Given the description of an element on the screen output the (x, y) to click on. 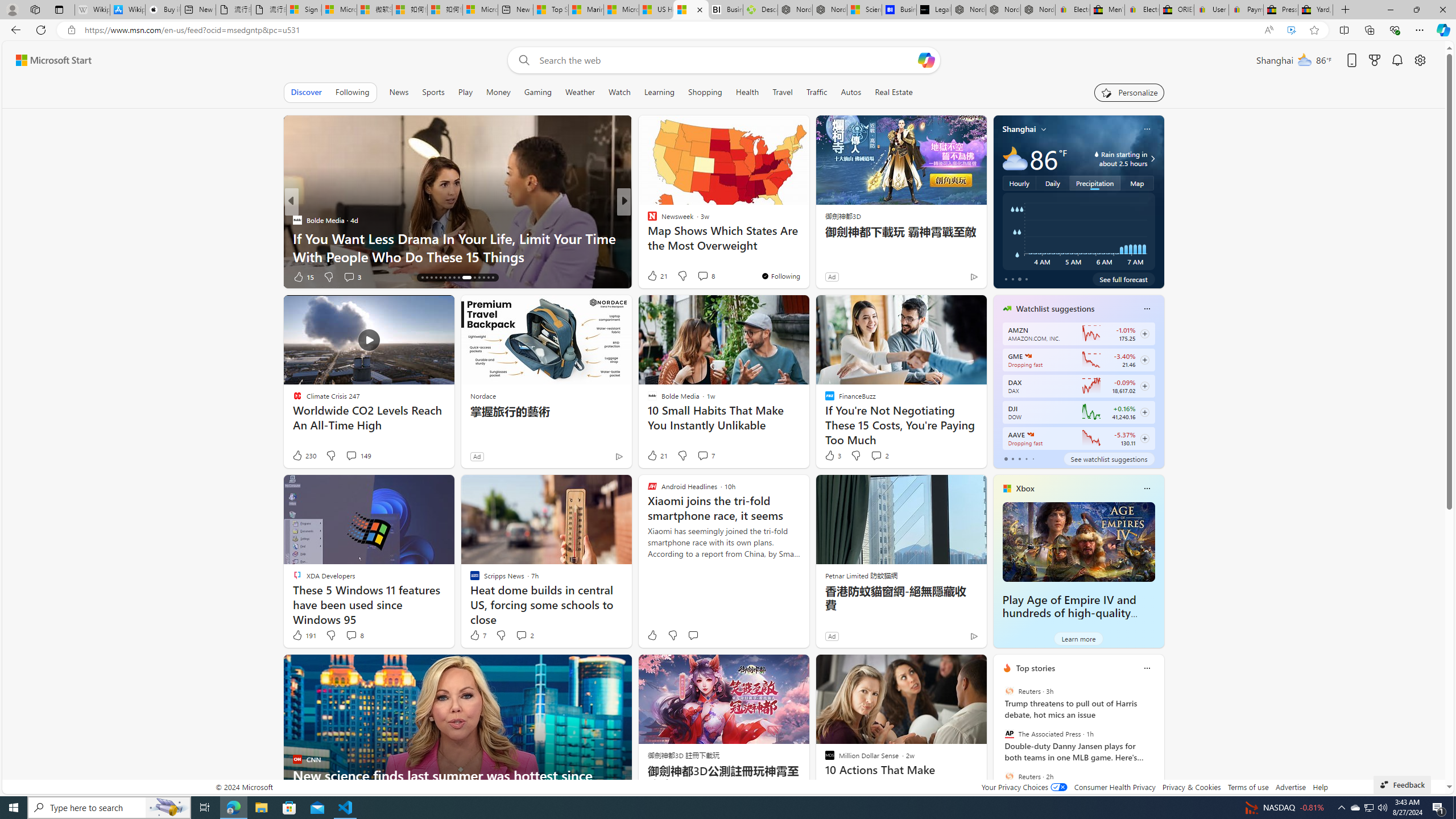
Your Privacy Choices (1024, 786)
Severe Storms To Strike Plains To Great Lakes Early Week (807, 247)
AutomationID: tab-19 (435, 277)
GAMESTOP CORP. (1028, 355)
See full forecast (1123, 278)
tab-3 (1025, 458)
